Given the description of an element on the screen output the (x, y) to click on. 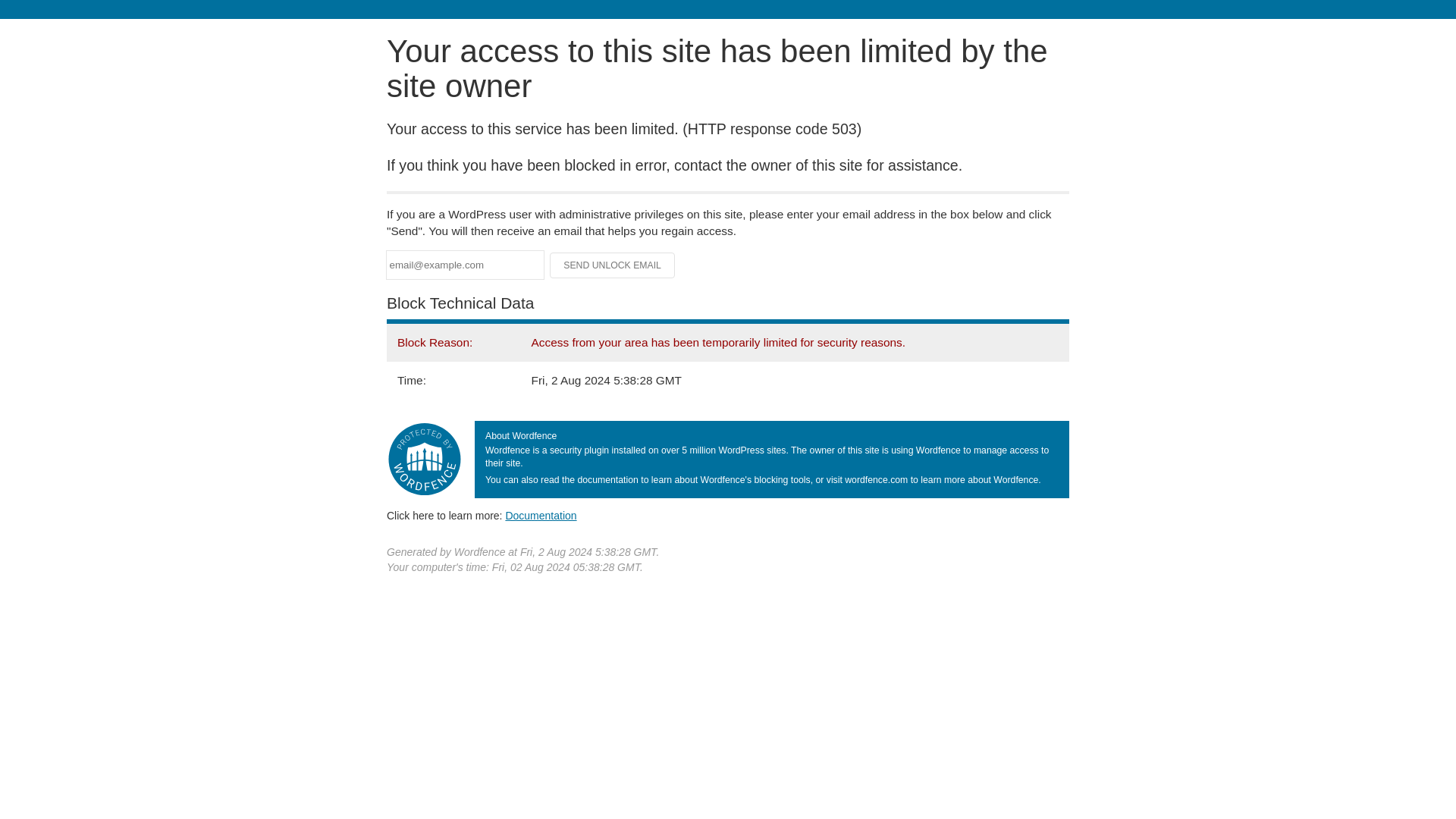
Documentation (540, 515)
Send Unlock Email (612, 265)
Send Unlock Email (612, 265)
